Given the description of an element on the screen output the (x, y) to click on. 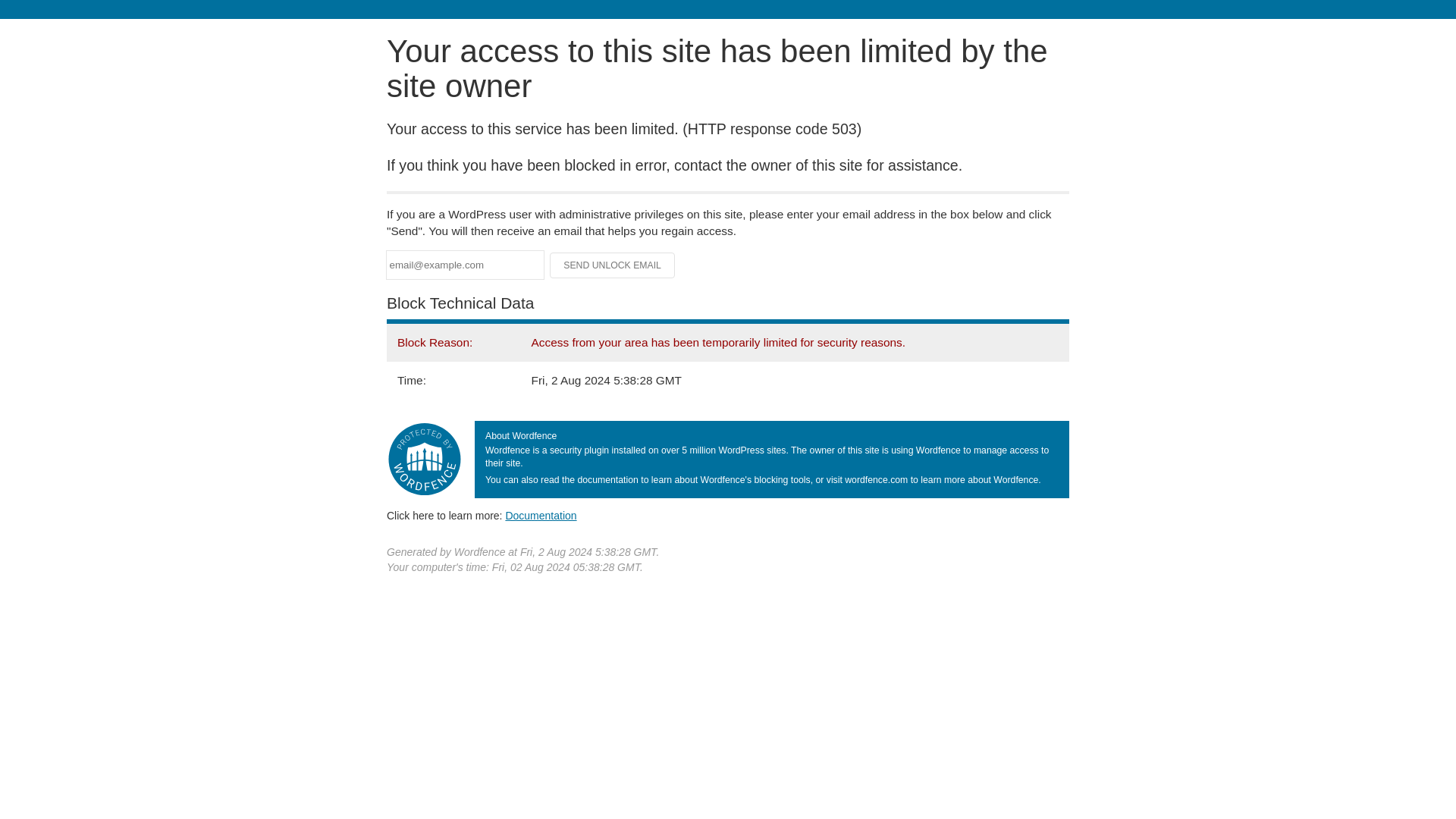
Documentation (540, 515)
Send Unlock Email (612, 265)
Send Unlock Email (612, 265)
